Given the description of an element on the screen output the (x, y) to click on. 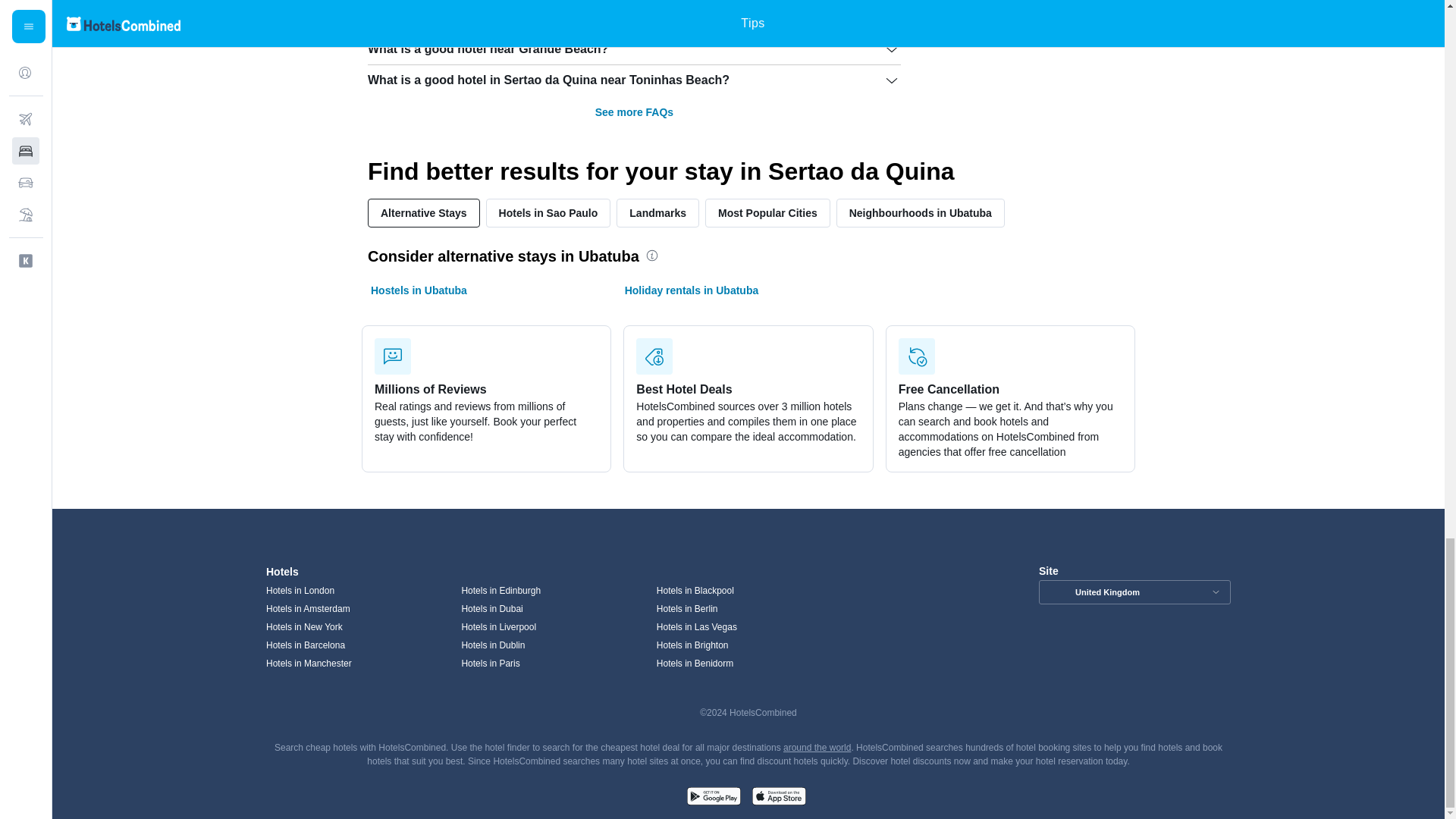
Holiday rentals in Ubatuba (691, 290)
Get it on Google Play (713, 797)
Hostels in Ubatuba (419, 290)
Hotels in Sao Paulo (548, 213)
Landmarks (656, 213)
Most Popular Cities (766, 213)
Neighbourhoods in Ubatuba (919, 213)
Alternative Stays (424, 213)
Download on the App Store (778, 797)
